Given the description of an element on the screen output the (x, y) to click on. 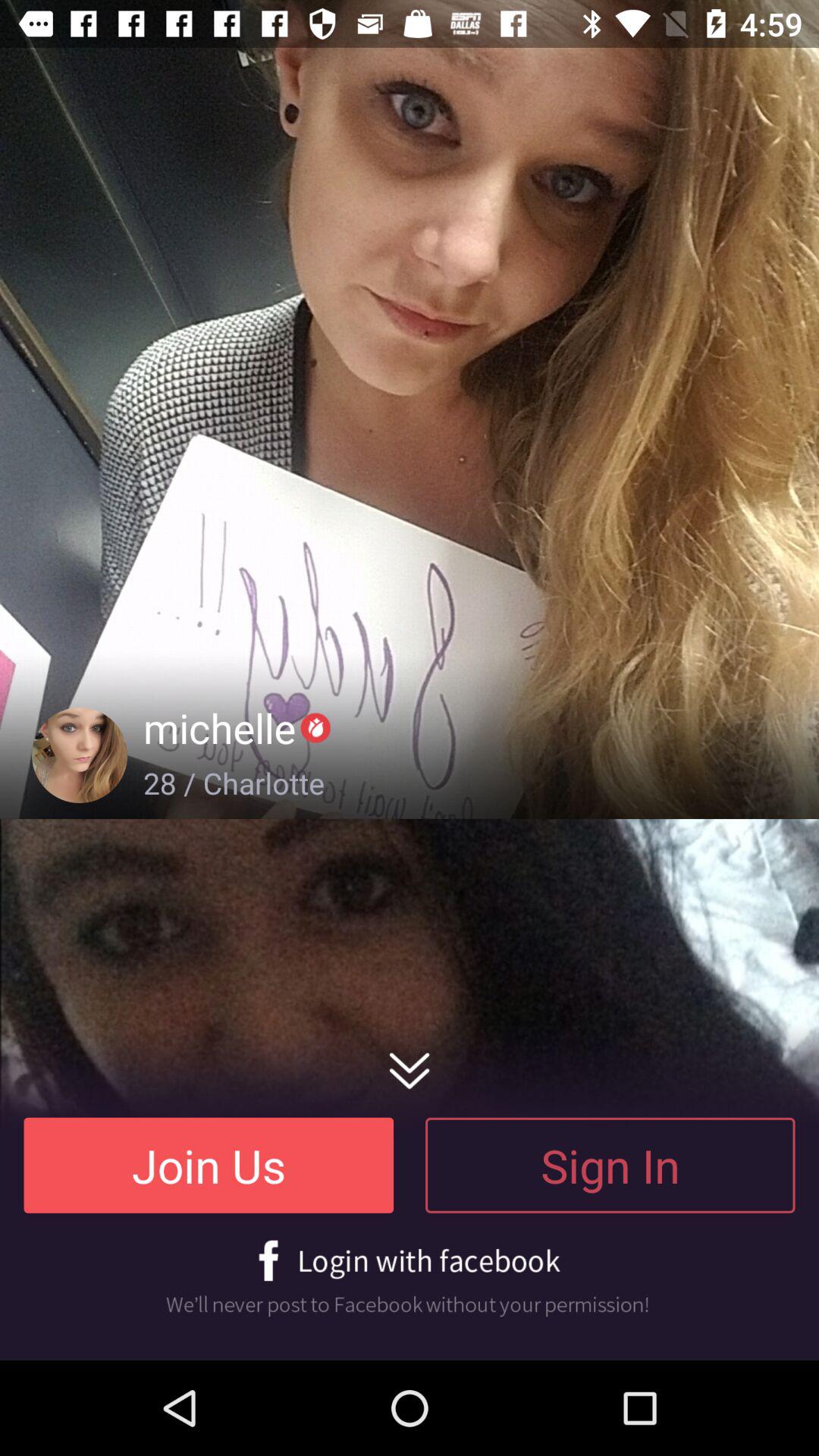
sign in with facebook (409, 1278)
